Given the description of an element on the screen output the (x, y) to click on. 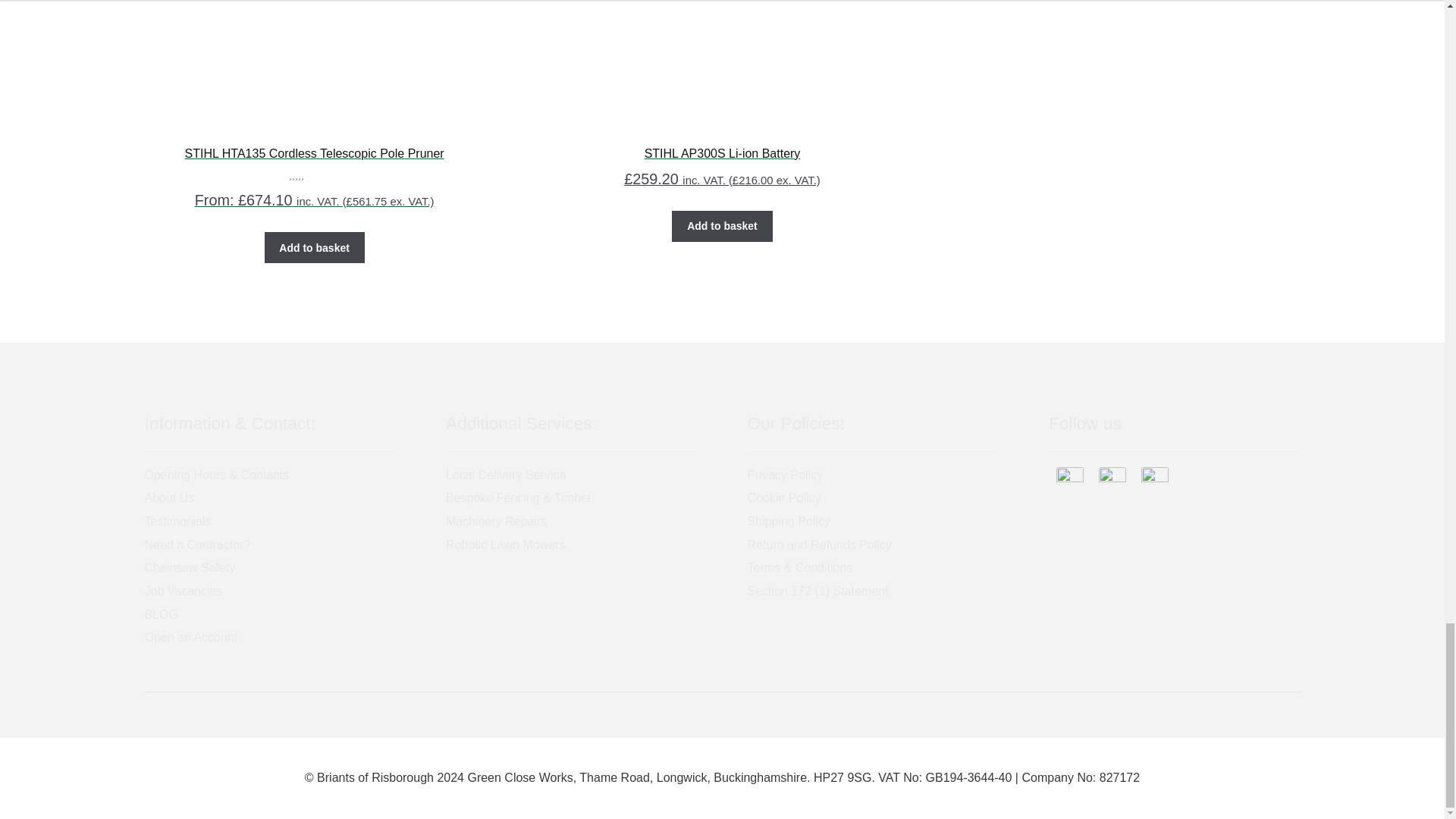
Instagram (1112, 480)
YouTube (1155, 480)
Facebook (1070, 480)
